Given the description of an element on the screen output the (x, y) to click on. 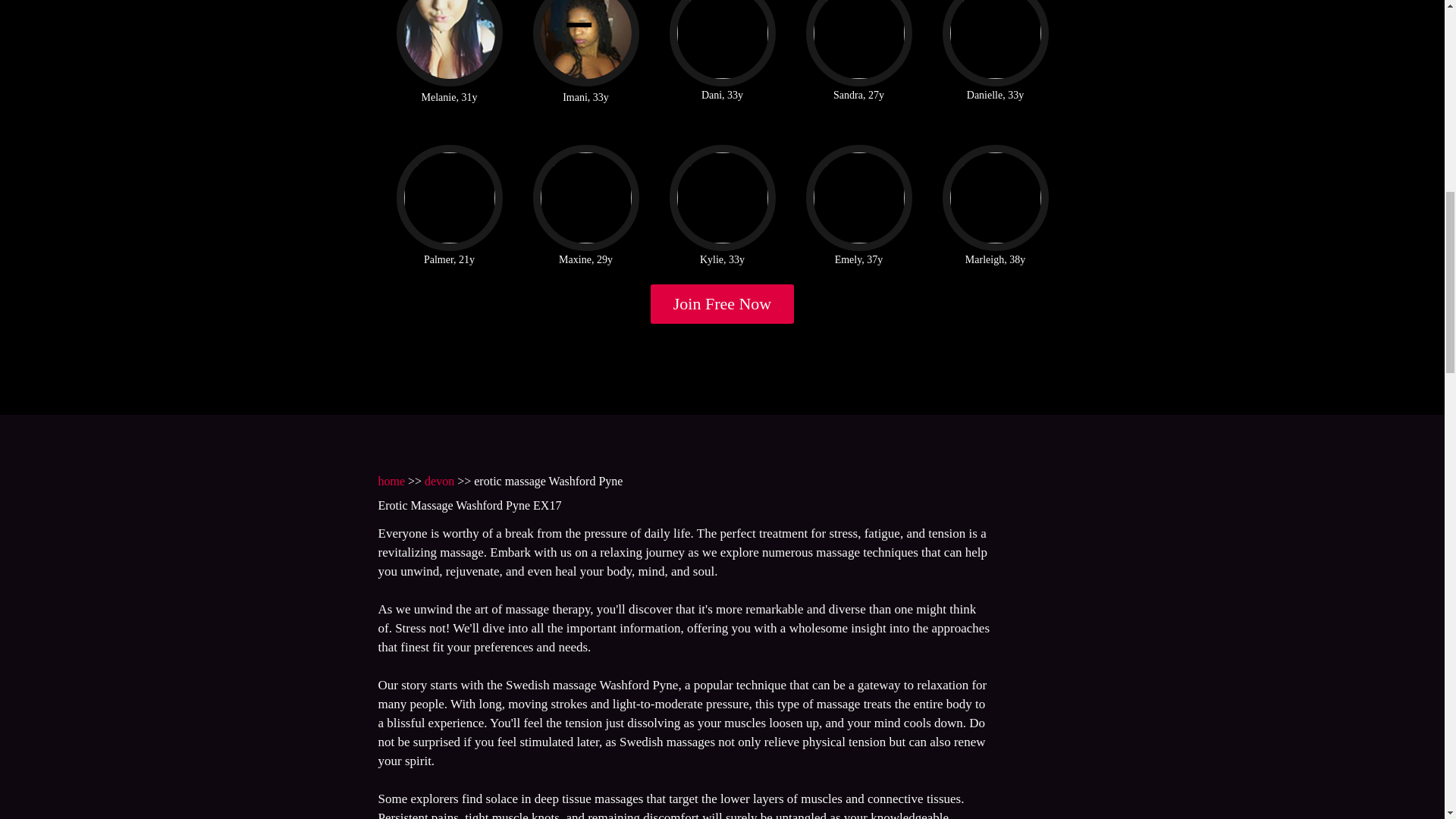
Join (722, 303)
devon (439, 481)
Join Free Now (722, 303)
home (390, 481)
